Given the description of an element on the screen output the (x, y) to click on. 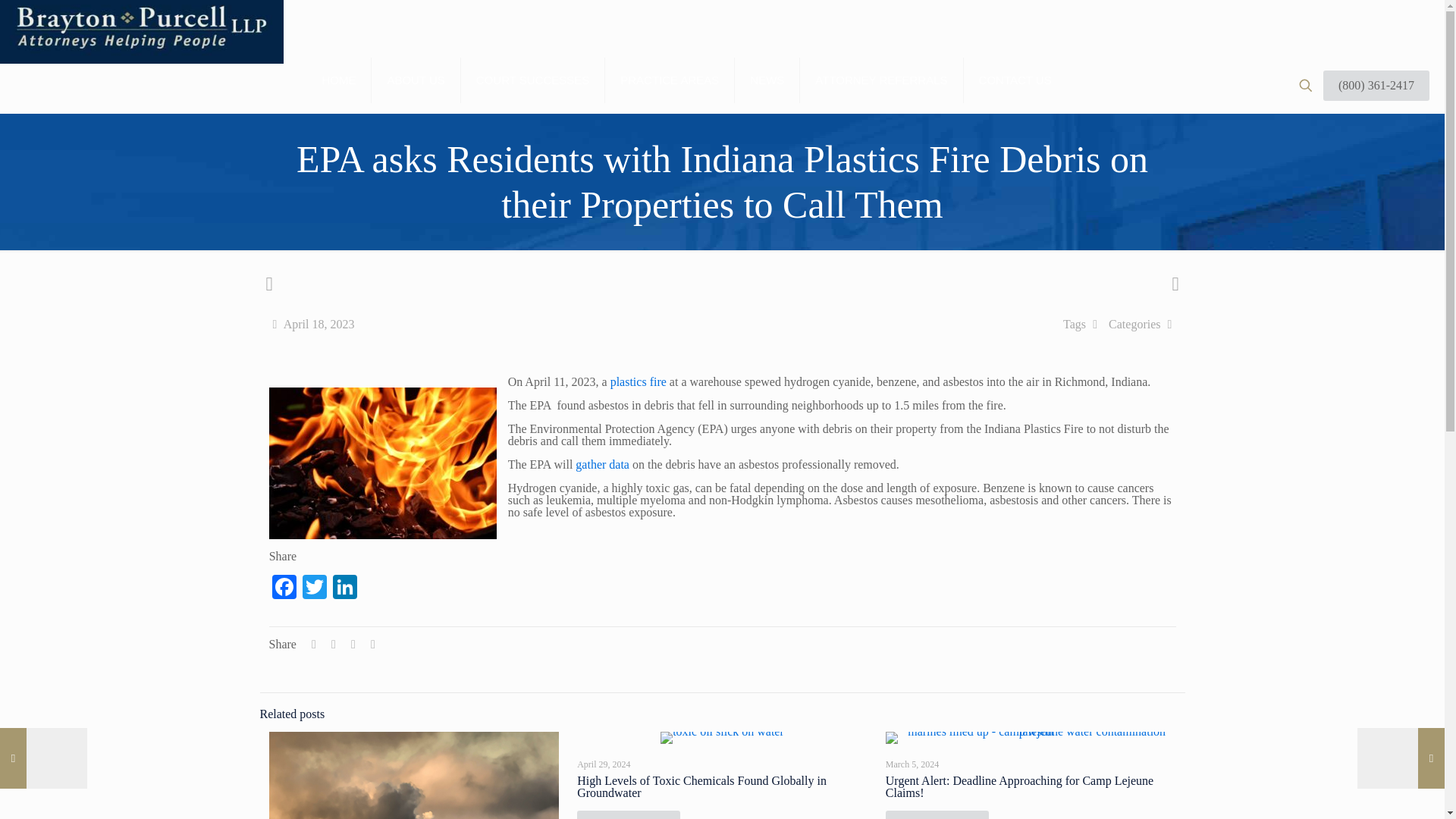
Brayton Purcell LLP (141, 85)
COURT SUCCESSES (533, 79)
ABOUT US (415, 79)
Twitter (314, 588)
LinkedIn (344, 588)
Facebook (284, 588)
PRACTICE AREAS (670, 79)
Spanish Site (44, 22)
HOME (338, 79)
